Given the description of an element on the screen output the (x, y) to click on. 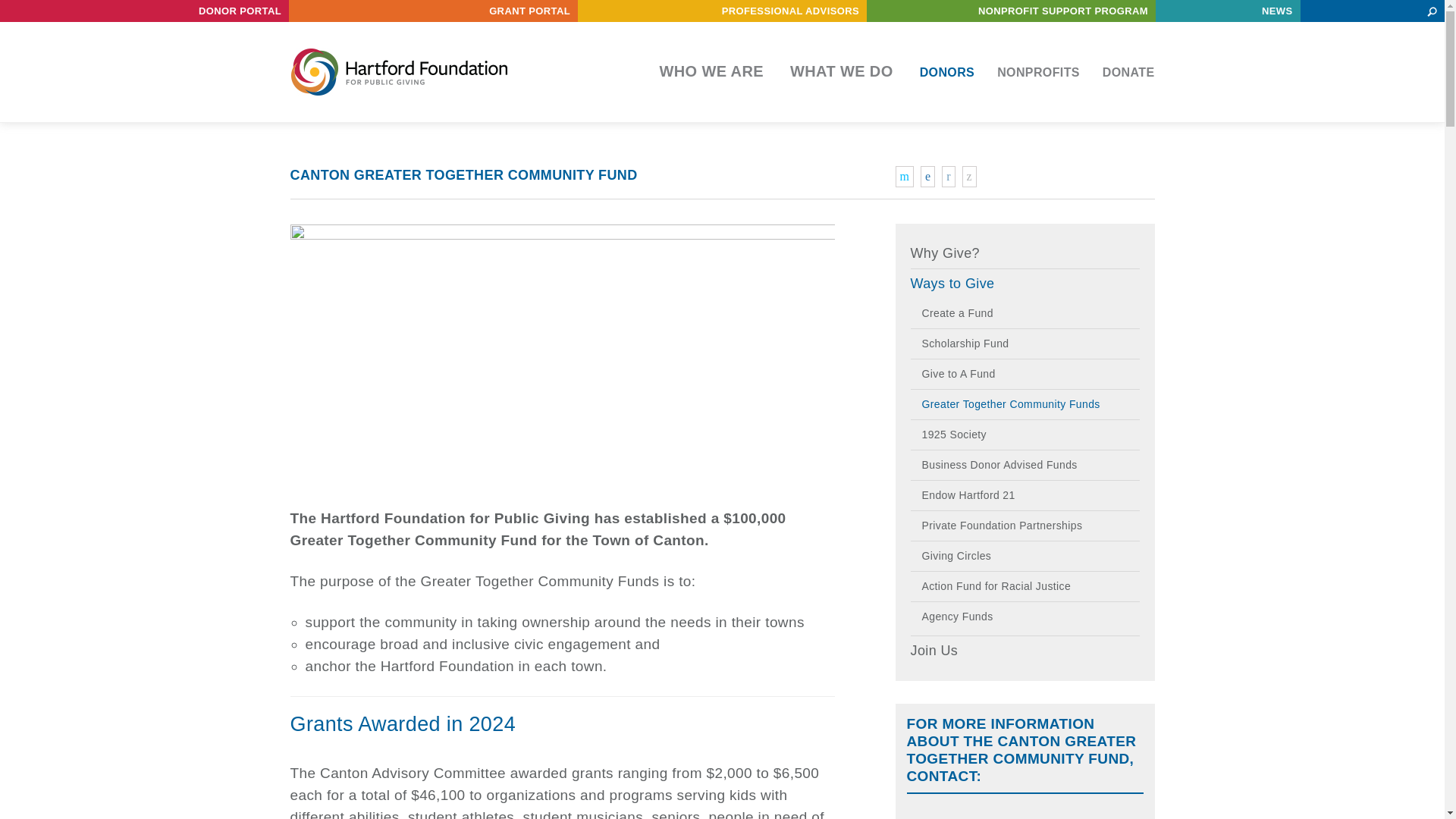
DONORS (947, 72)
GRANT PORTAL (529, 10)
DONATE (1128, 72)
NONPROFIT SUPPORT PROGRAM (1063, 10)
DONOR PORTAL (239, 10)
NONPROFITS (1038, 72)
NEWS (1277, 10)
WHO WE ARE (710, 71)
PROFESSIONAL ADVISORS (790, 10)
WHAT WE DO (841, 71)
